Given the description of an element on the screen output the (x, y) to click on. 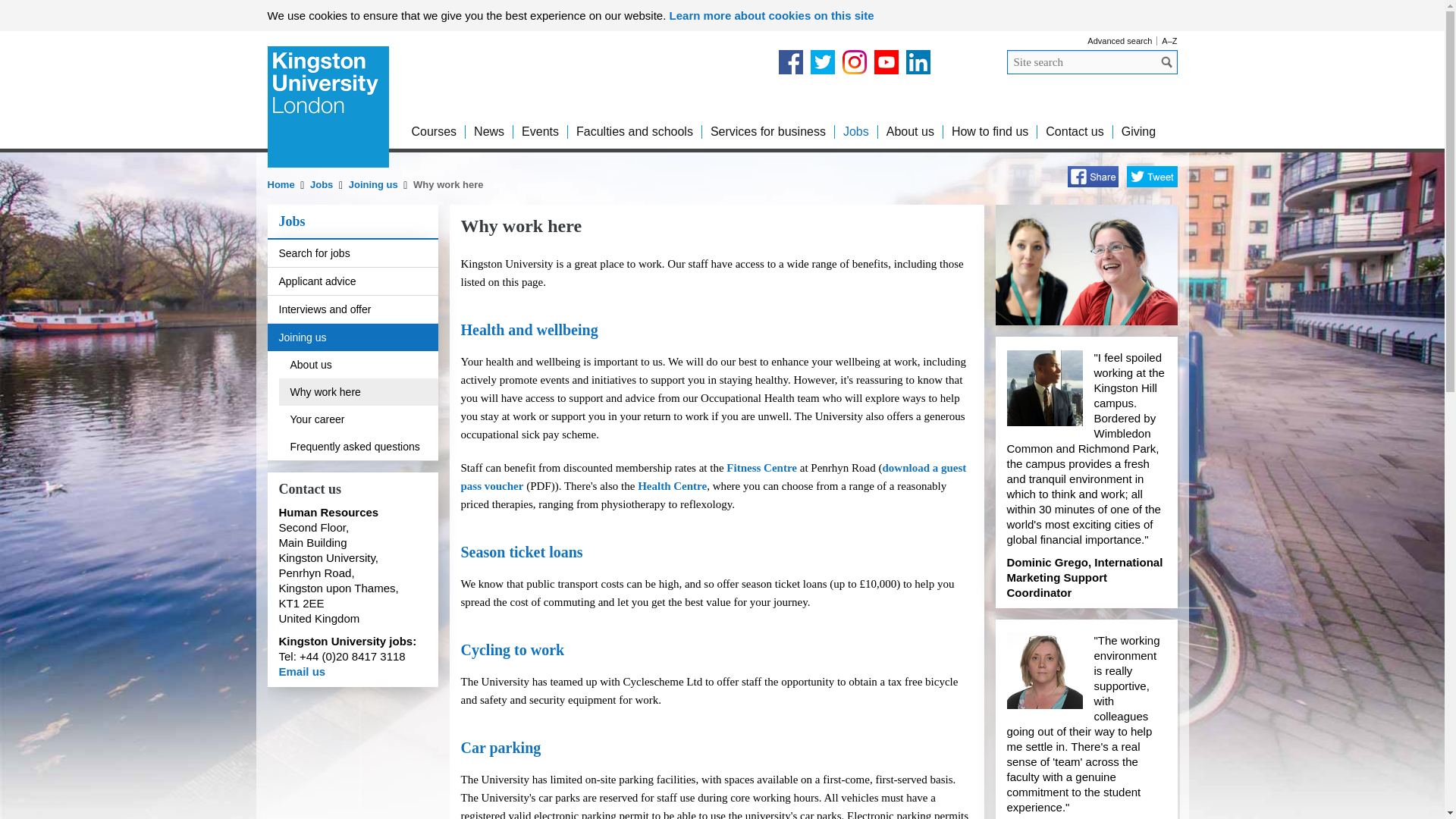
Home (281, 184)
Advanced search (1119, 40)
Giving (1138, 131)
News at Kingston University London (488, 131)
Search (1166, 61)
Why work here (448, 184)
Facebook (789, 61)
LinkedIn (917, 61)
How to find Kingston University London (989, 131)
Jobs (856, 131)
Information on courses at Kingston University London (433, 131)
Services for business (767, 131)
Events (540, 131)
